Given the description of an element on the screen output the (x, y) to click on. 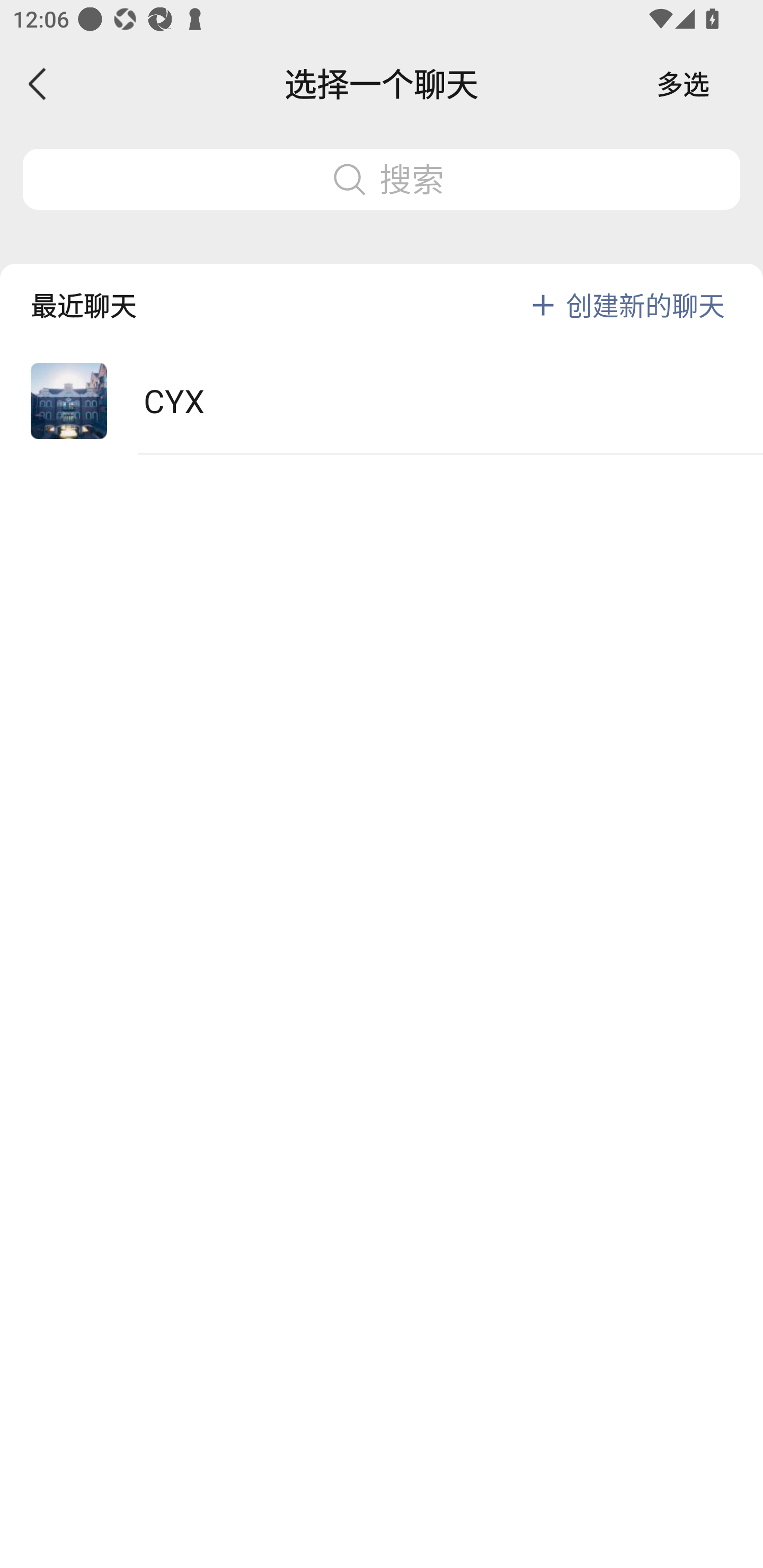
返回 (38, 83)
多选 (683, 83)
创建新的聊天 (645, 304)
CYX (381, 401)
